Given the description of an element on the screen output the (x, y) to click on. 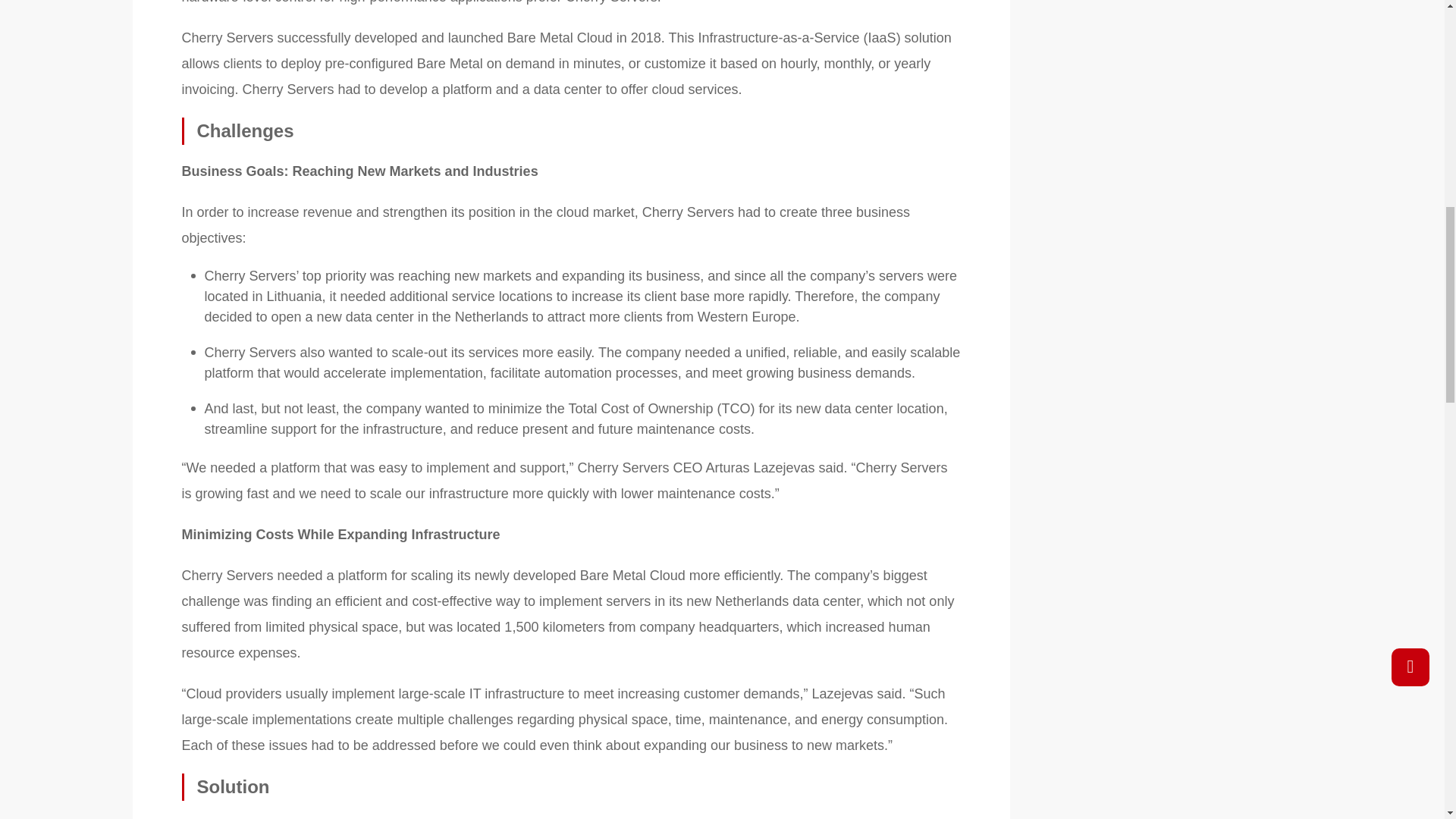
Challenges (571, 130)
Solution (571, 786)
